Given the description of an element on the screen output the (x, y) to click on. 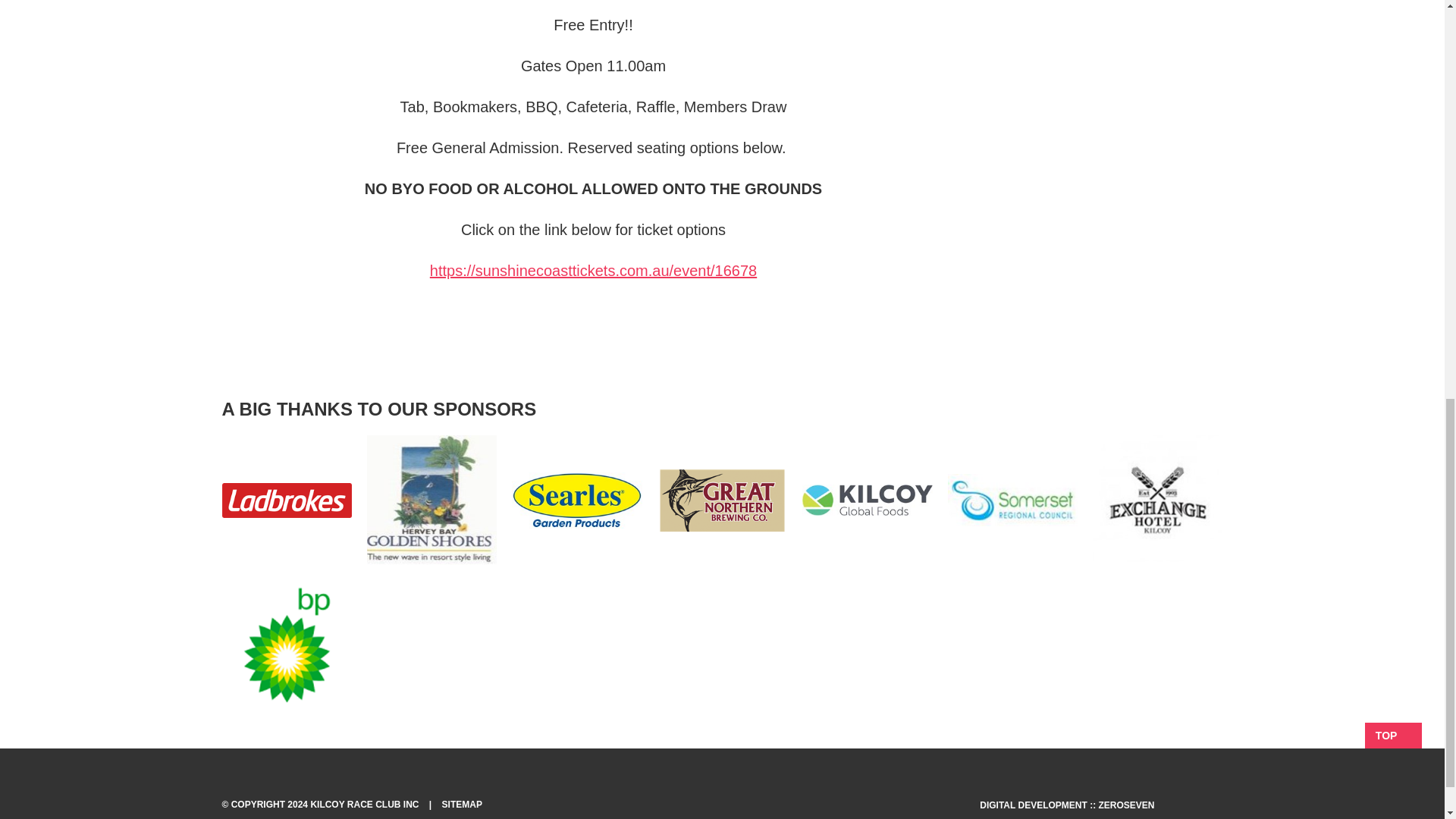
SITEMAP (461, 804)
Searles Garden Products (577, 500)
TOP (1393, 735)
Great Northern (722, 499)
Kilcoy Global Foods (866, 499)
Visit racingqueensland.com.au (1196, 798)
Exchange Hotel 2 150X150 (1158, 499)
Somerset Regional Council (1012, 500)
Ladbrokes (285, 500)
Golden Shores Logo (431, 499)
Bp Logo2 150X150 (285, 644)
DIGITAL DEVELOPMENT :: ZEROSEVEN (1066, 805)
